Given the description of an element on the screen output the (x, y) to click on. 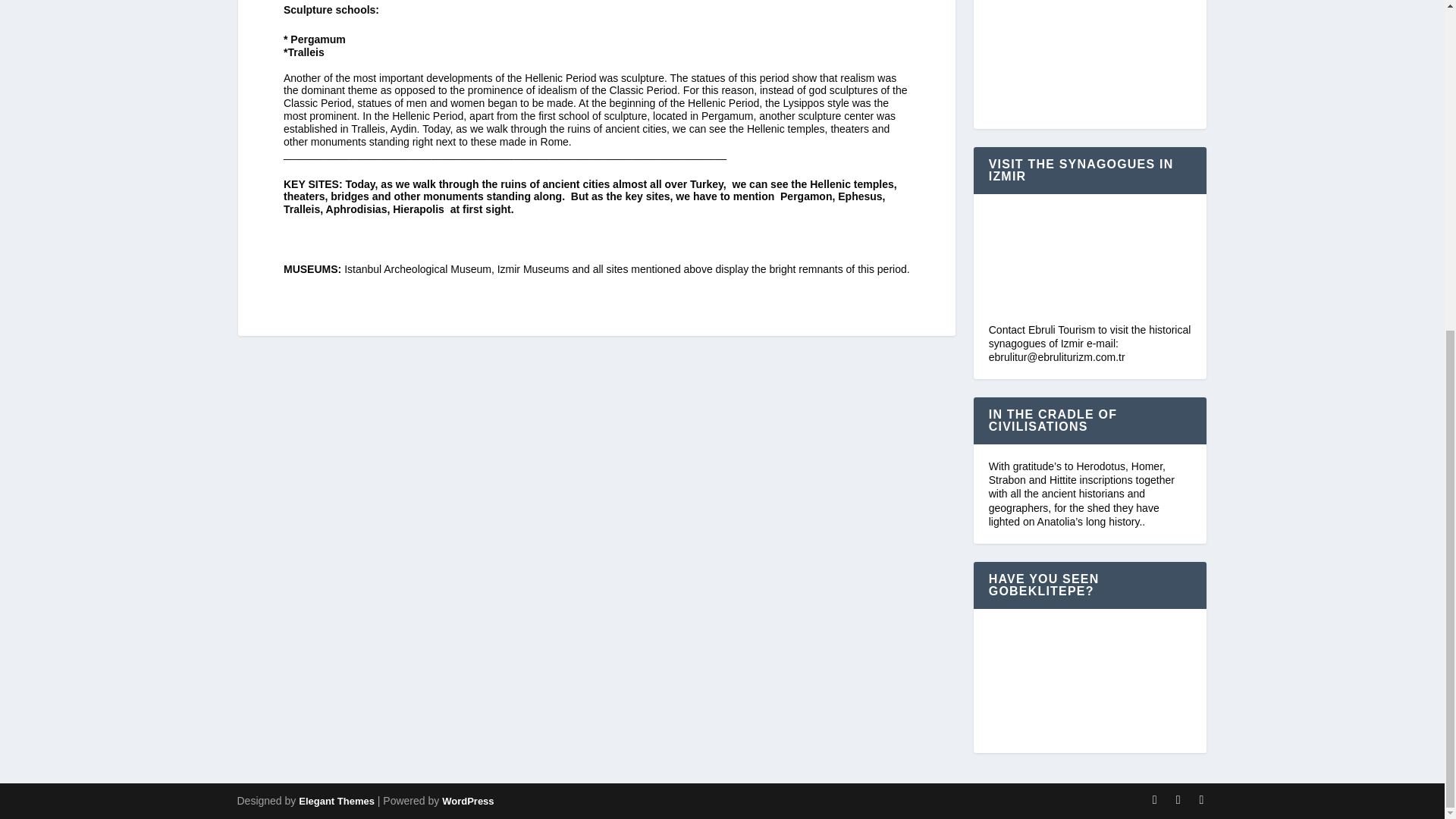
Premium WordPress Themes (336, 800)
YouTube video player (1089, 56)
YouTube video player (1089, 680)
YouTube video player (1089, 265)
